Given the description of an element on the screen output the (x, y) to click on. 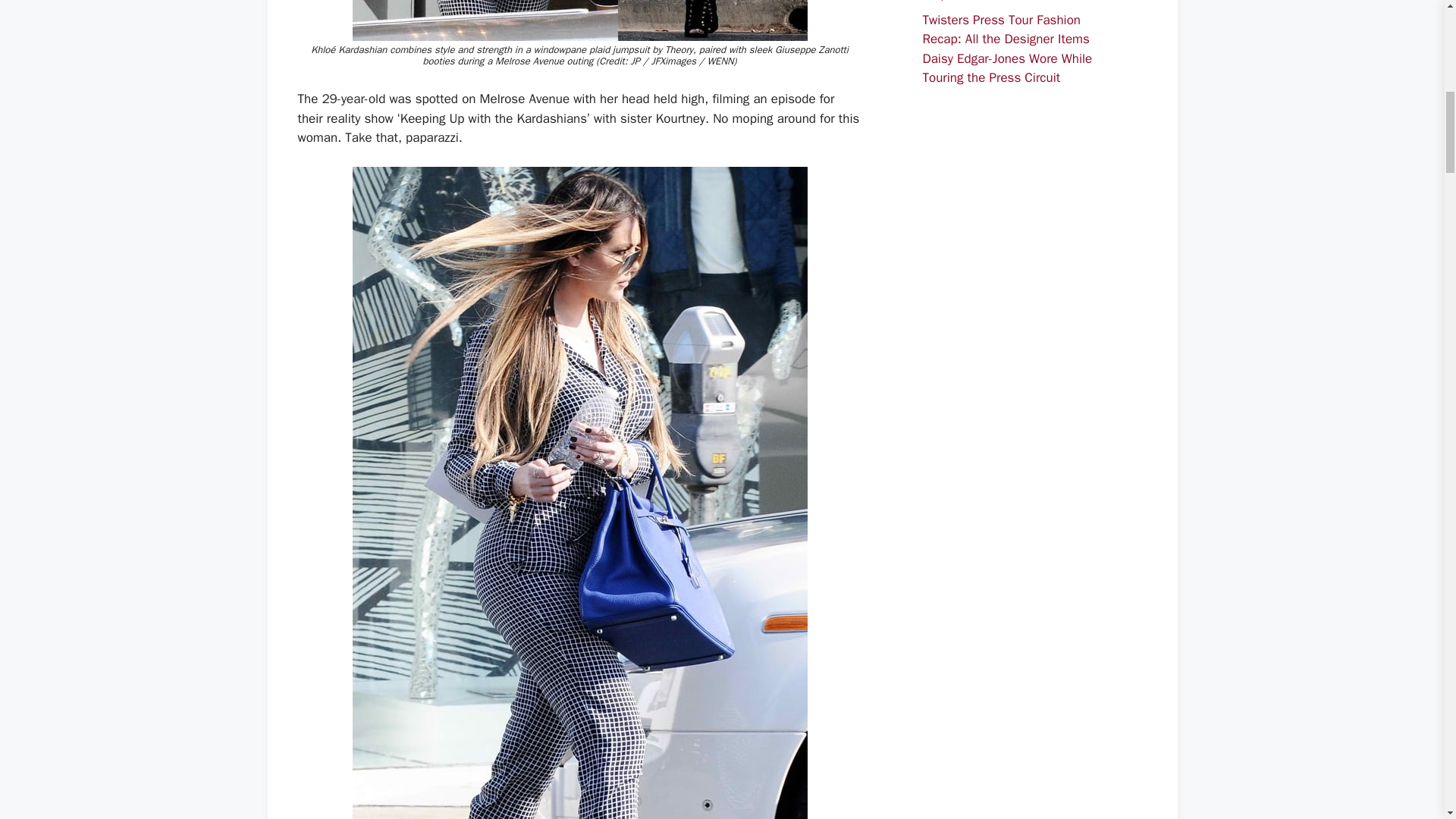
Scroll back to top (1406, 720)
